Given the description of an element on the screen output the (x, y) to click on. 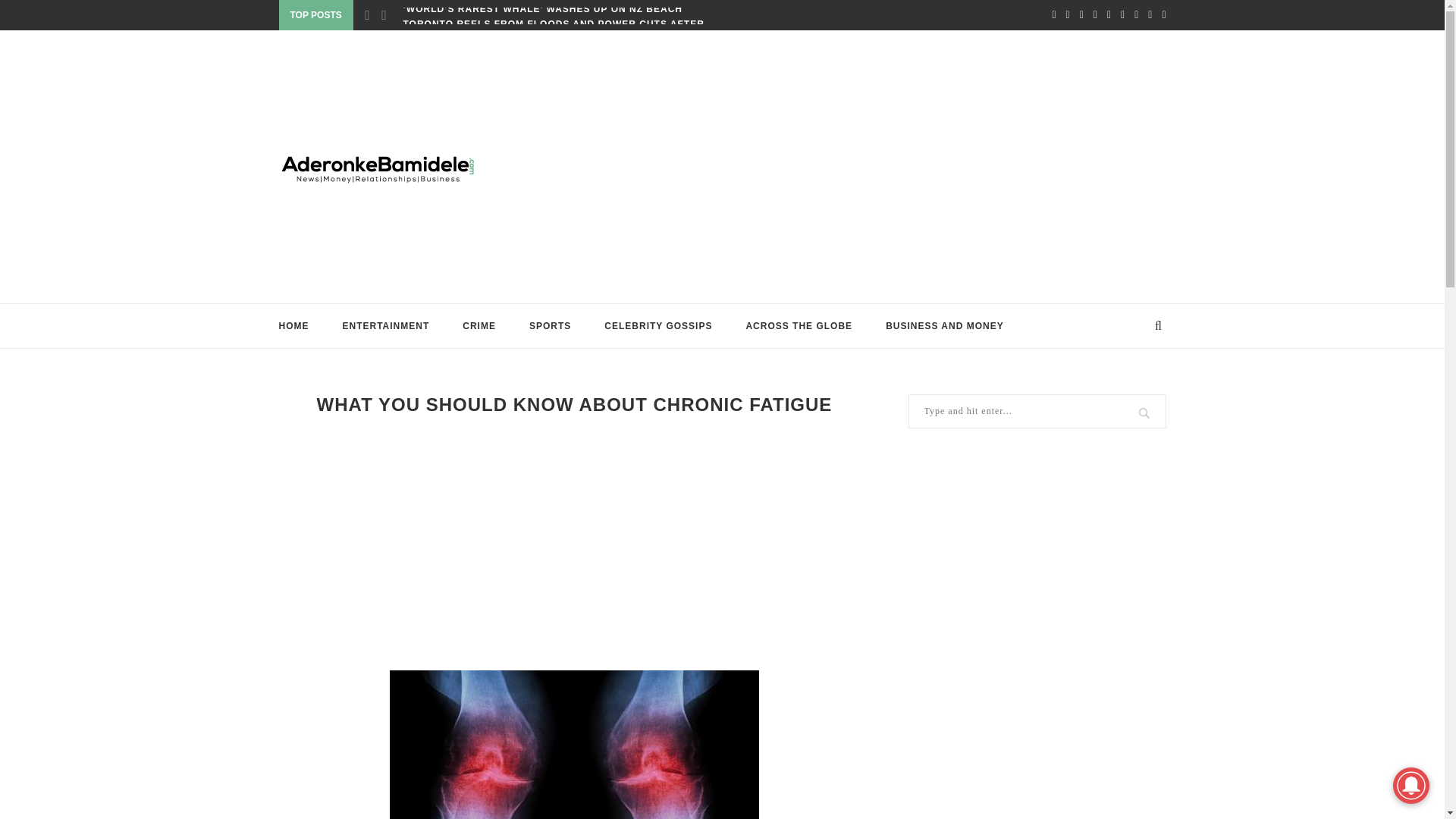
TORONTO REELS FROM FLOODS AND POWER CUTS AFTER... (558, 24)
Advertisement (574, 540)
Advertisement (874, 166)
